Given the description of an element on the screen output the (x, y) to click on. 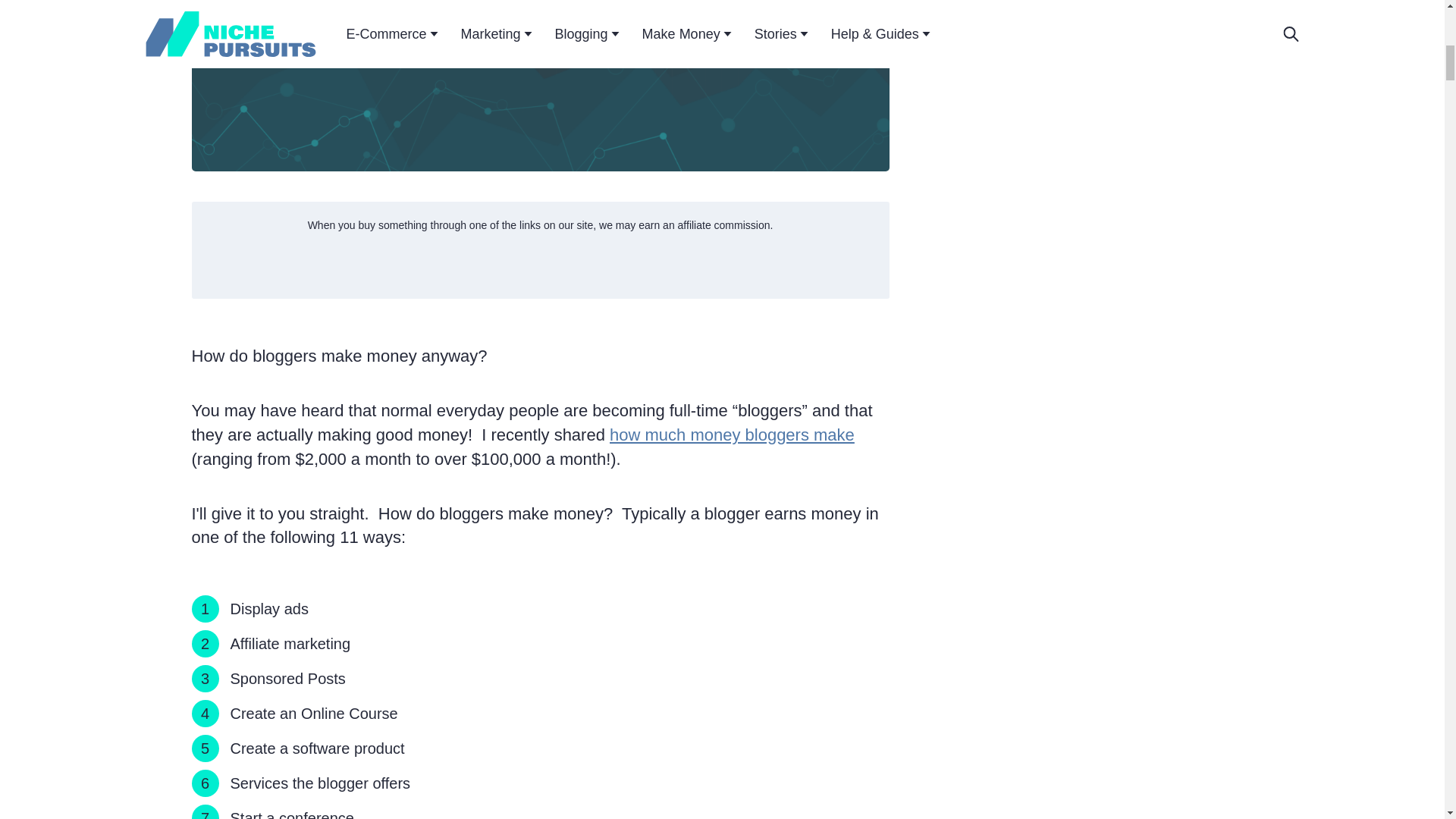
how much money bloggers make (732, 434)
